Given the description of an element on the screen output the (x, y) to click on. 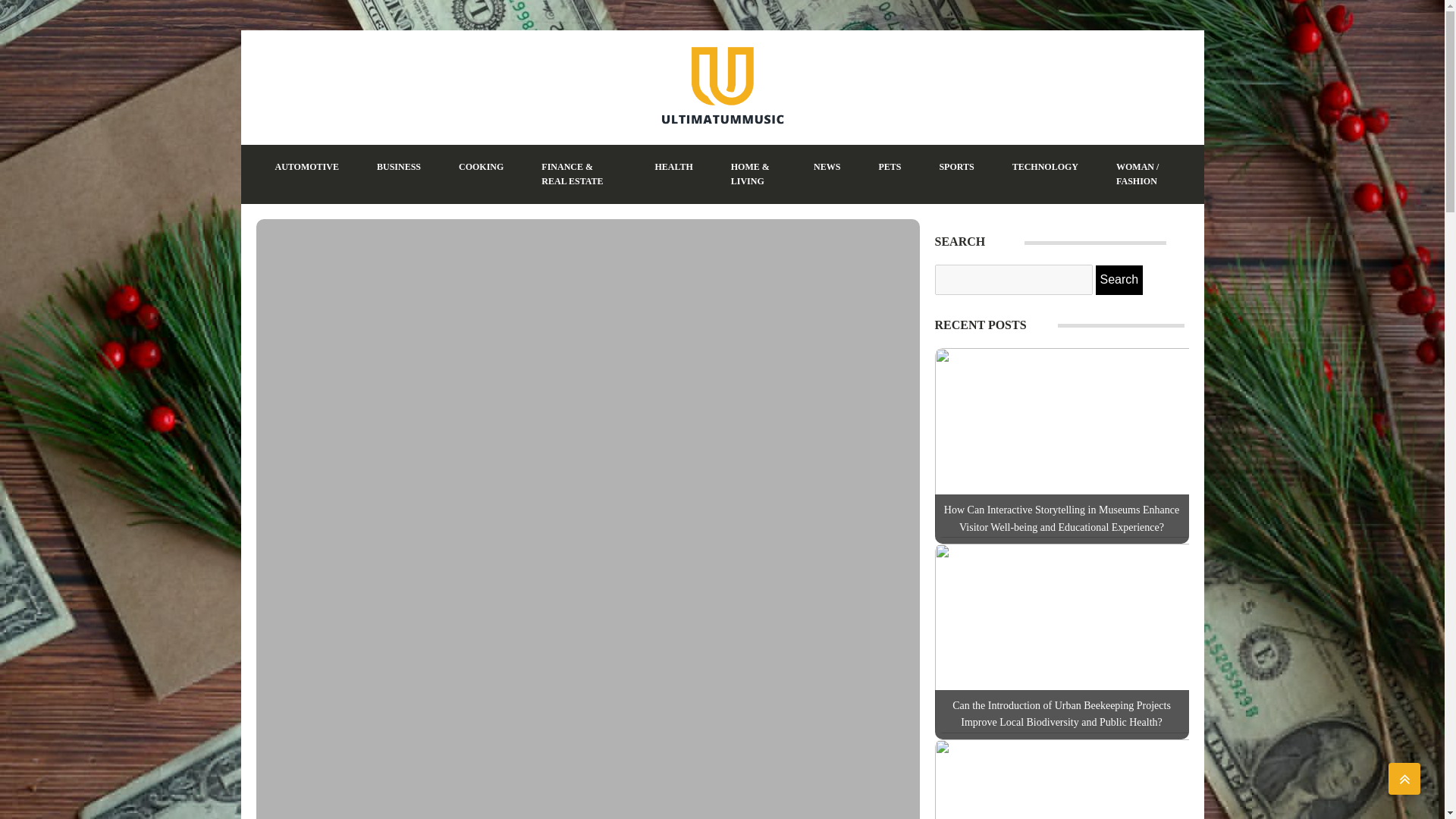
BUSINESS (398, 166)
HEALTH (672, 166)
AUTOMOTIVE (307, 166)
NEWS (826, 166)
COOKING (480, 166)
PETS (889, 166)
SPORTS (956, 166)
